Given the description of an element on the screen output the (x, y) to click on. 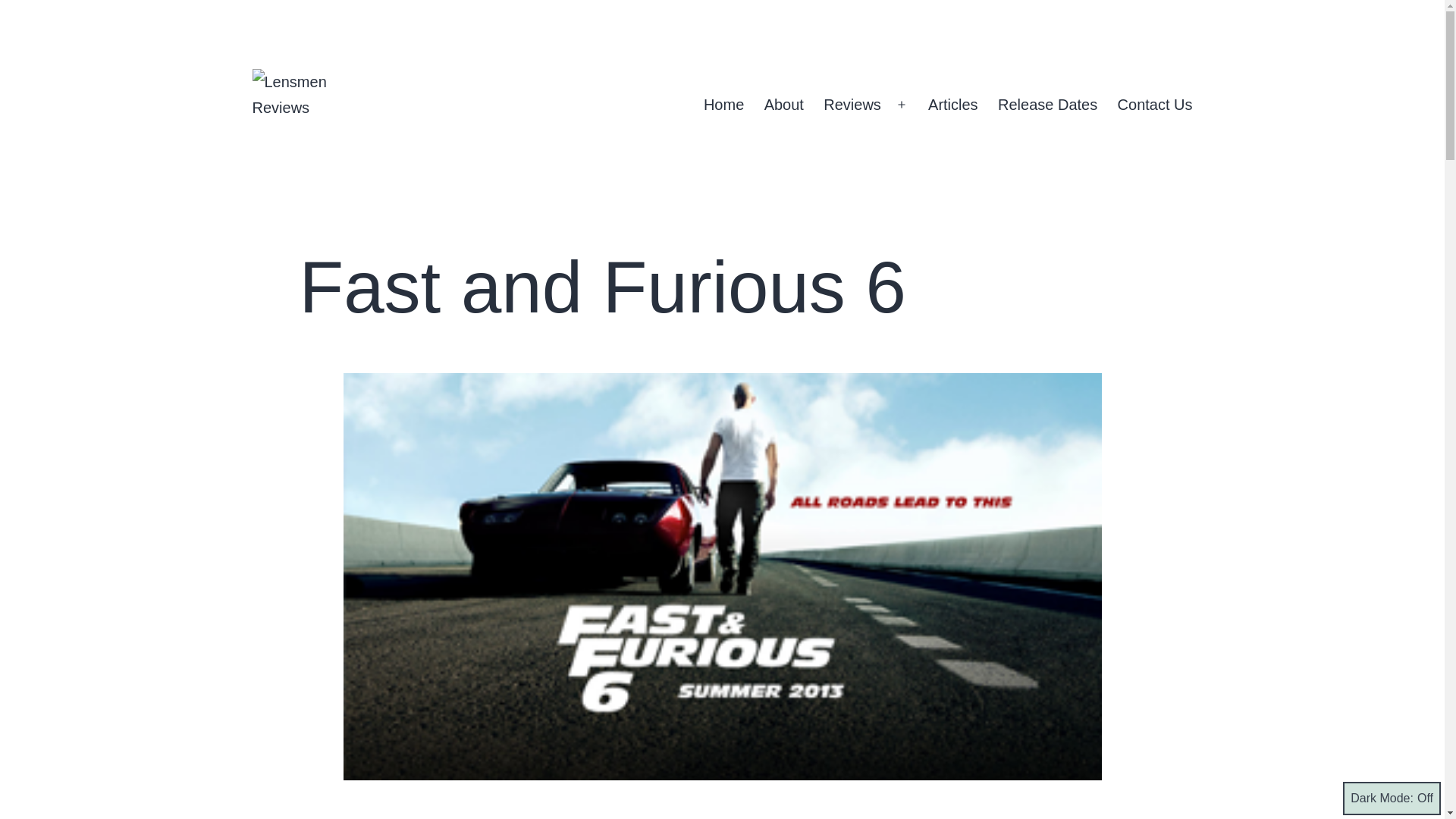
Articles (953, 105)
Release Dates (1048, 105)
About (783, 105)
Home (724, 105)
Reviews (852, 105)
Contact Us (1154, 105)
